Given the description of an element on the screen output the (x, y) to click on. 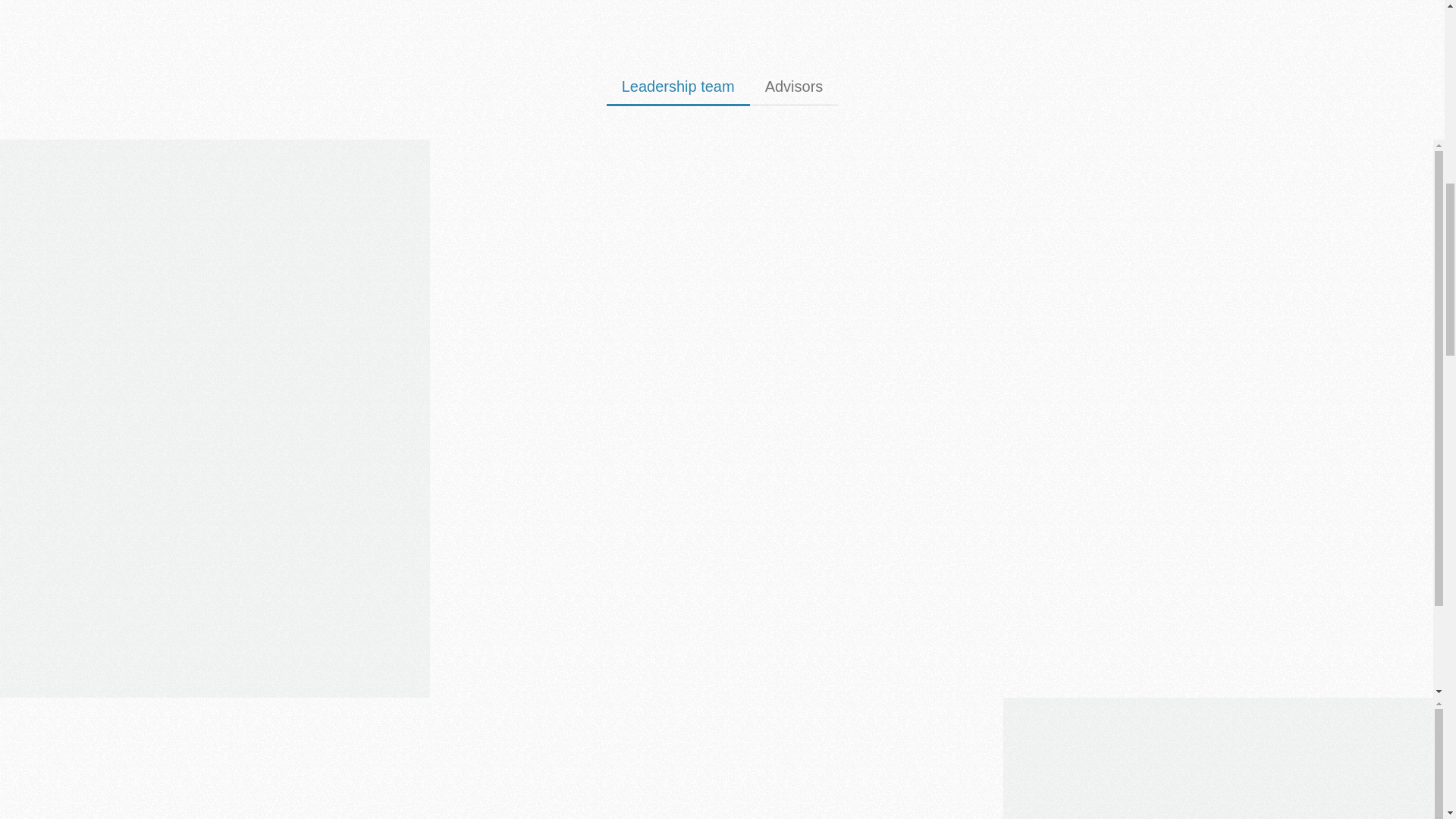
Leadership team (678, 91)
Advisors (793, 91)
